Given the description of an element on the screen output the (x, y) to click on. 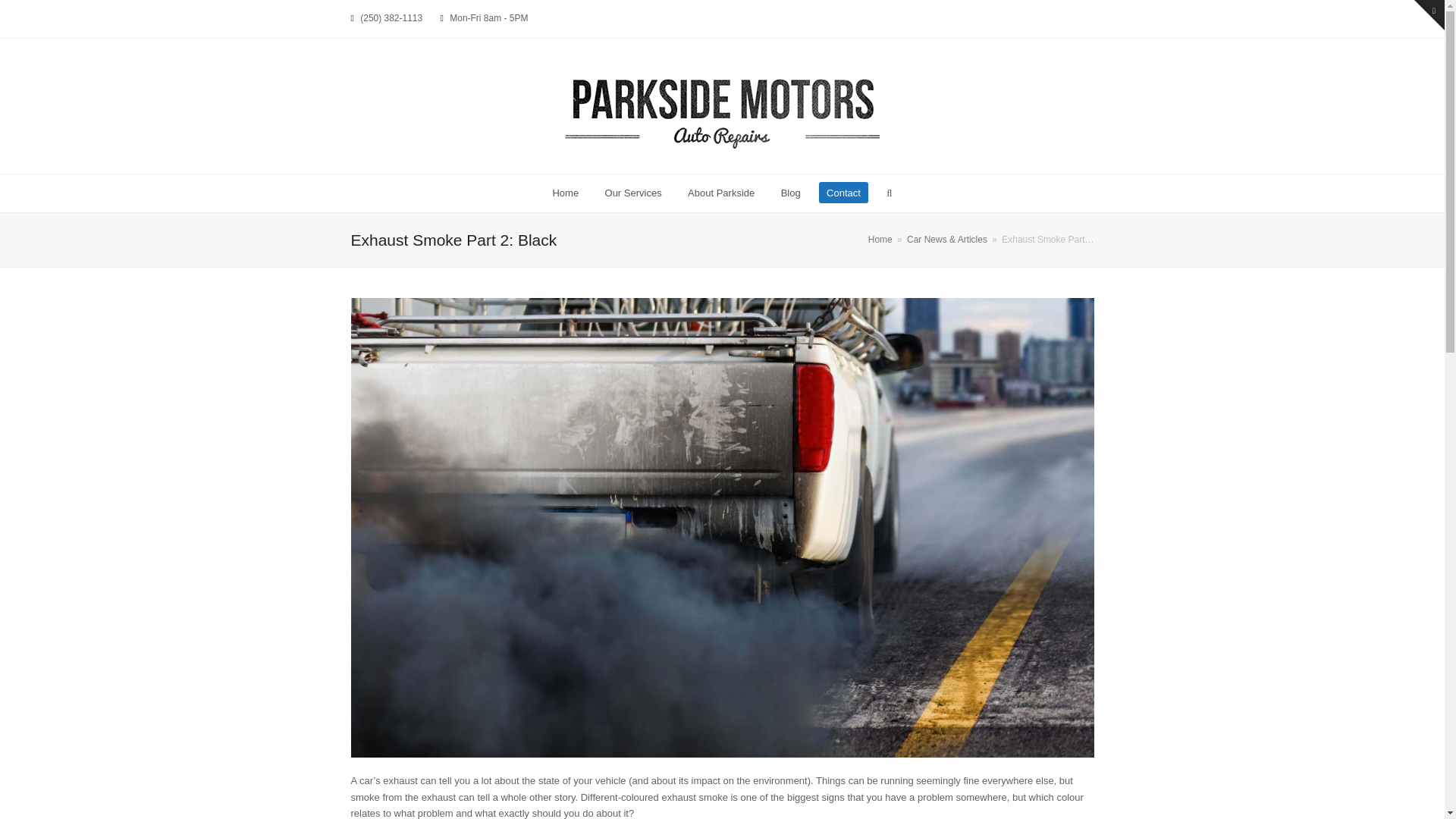
Home (564, 193)
Contact (843, 193)
About Parkside (722, 193)
Our Services (632, 193)
Blog (790, 193)
